Given the description of an element on the screen output the (x, y) to click on. 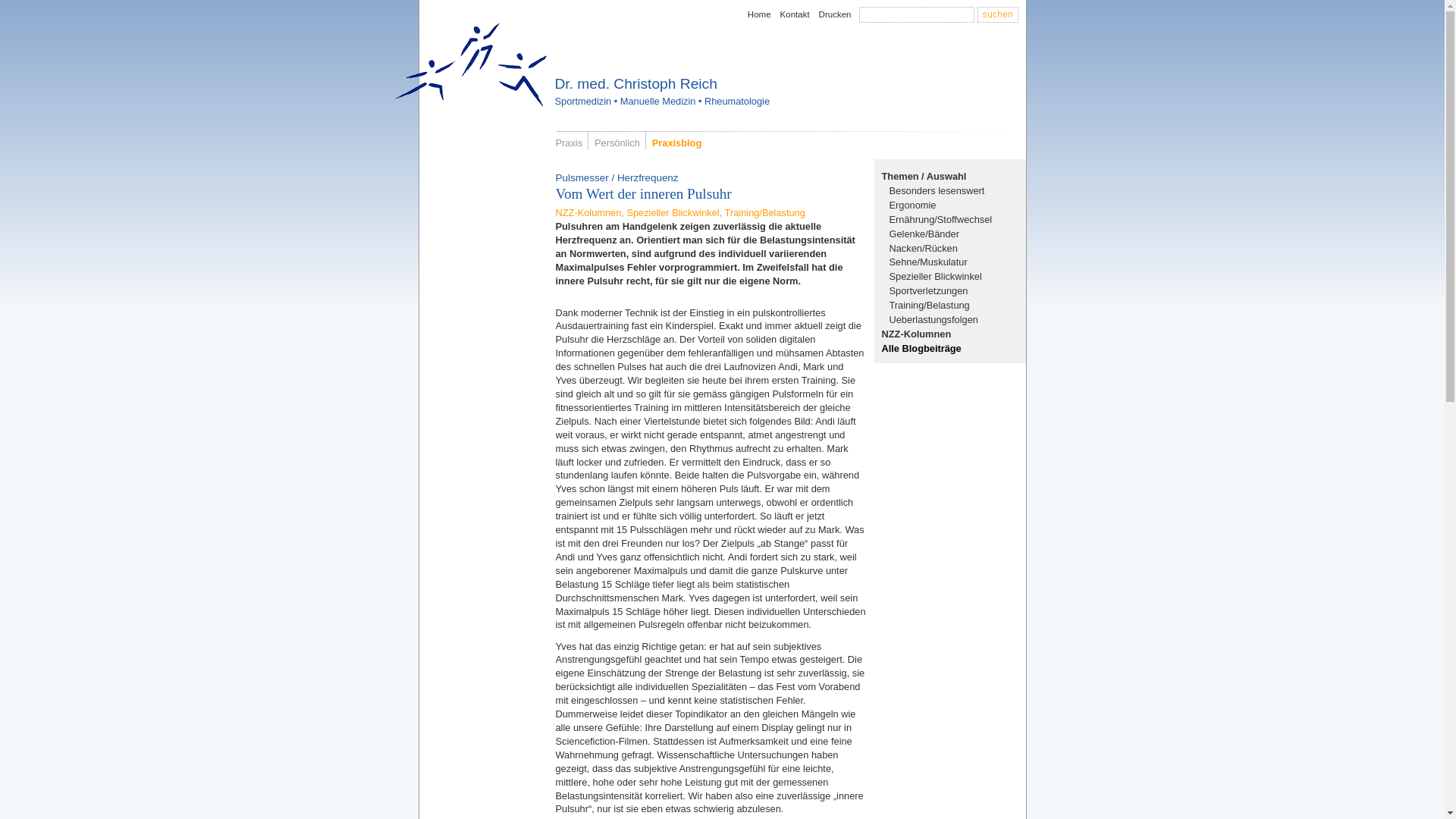
Ueberlastungsfolgen Element type: text (932, 319)
Spezieller Blickwinkel Element type: text (672, 212)
Kontakt Element type: text (794, 13)
NZZ-Kolumnen Element type: text (915, 333)
Ergonomie Element type: text (911, 204)
Praxisblog Element type: text (676, 142)
Themen / Auswahl Element type: text (923, 176)
Drucken Element type: text (835, 13)
Sehne/Muskulatur Element type: text (927, 261)
Training/Belastung Element type: text (764, 212)
Spezieller Blickwinkel Element type: text (934, 276)
NZZ-Kolumnen Element type: text (588, 212)
Praxis Element type: text (568, 142)
Besonders lesenswert Element type: text (936, 190)
Home Element type: text (759, 13)
Training/Belastung Element type: text (928, 304)
Sportverletzungen Element type: text (927, 290)
